Given the description of an element on the screen output the (x, y) to click on. 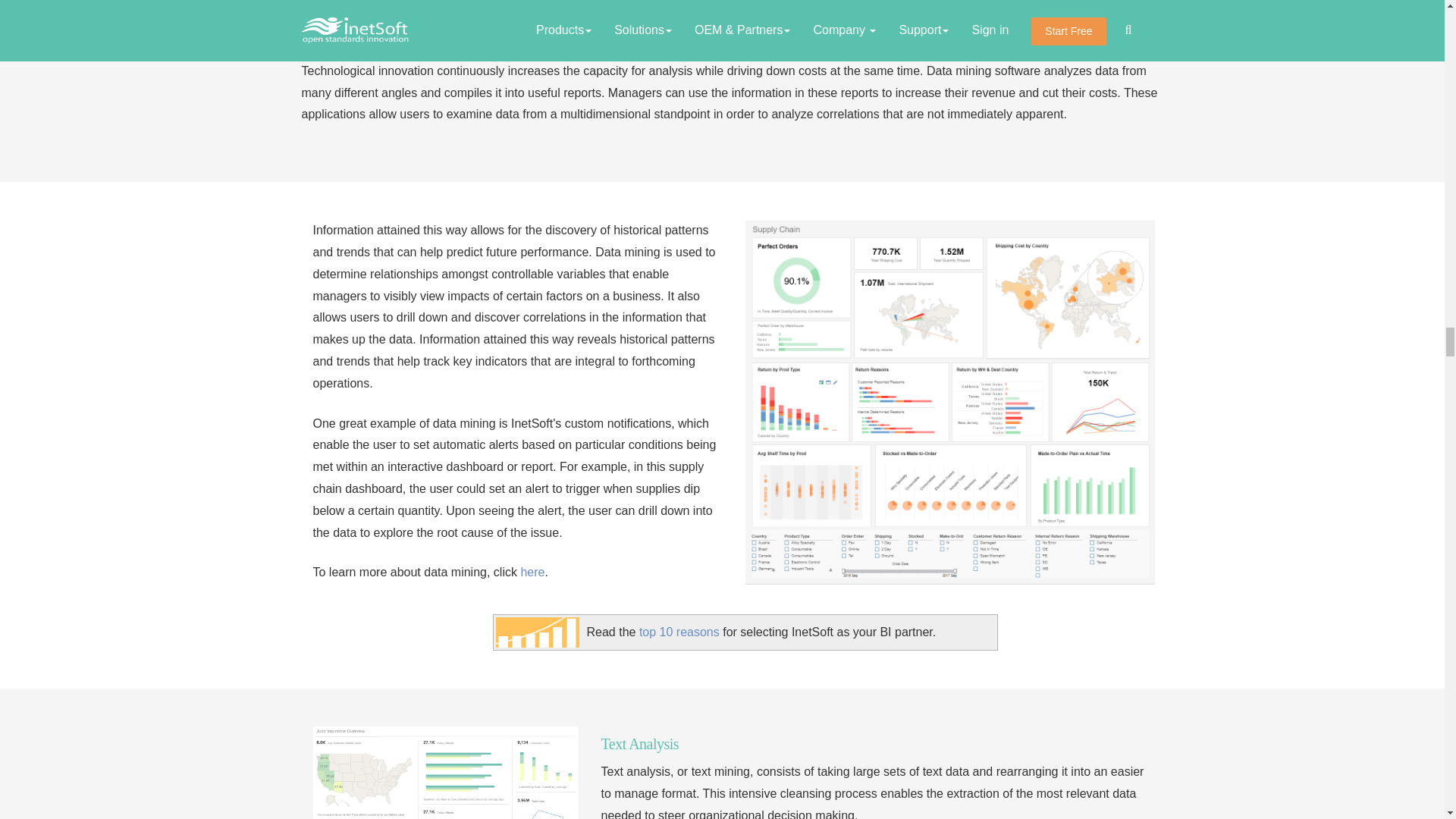
Read why to choose InetSoft (537, 632)
